Given the description of an element on the screen output the (x, y) to click on. 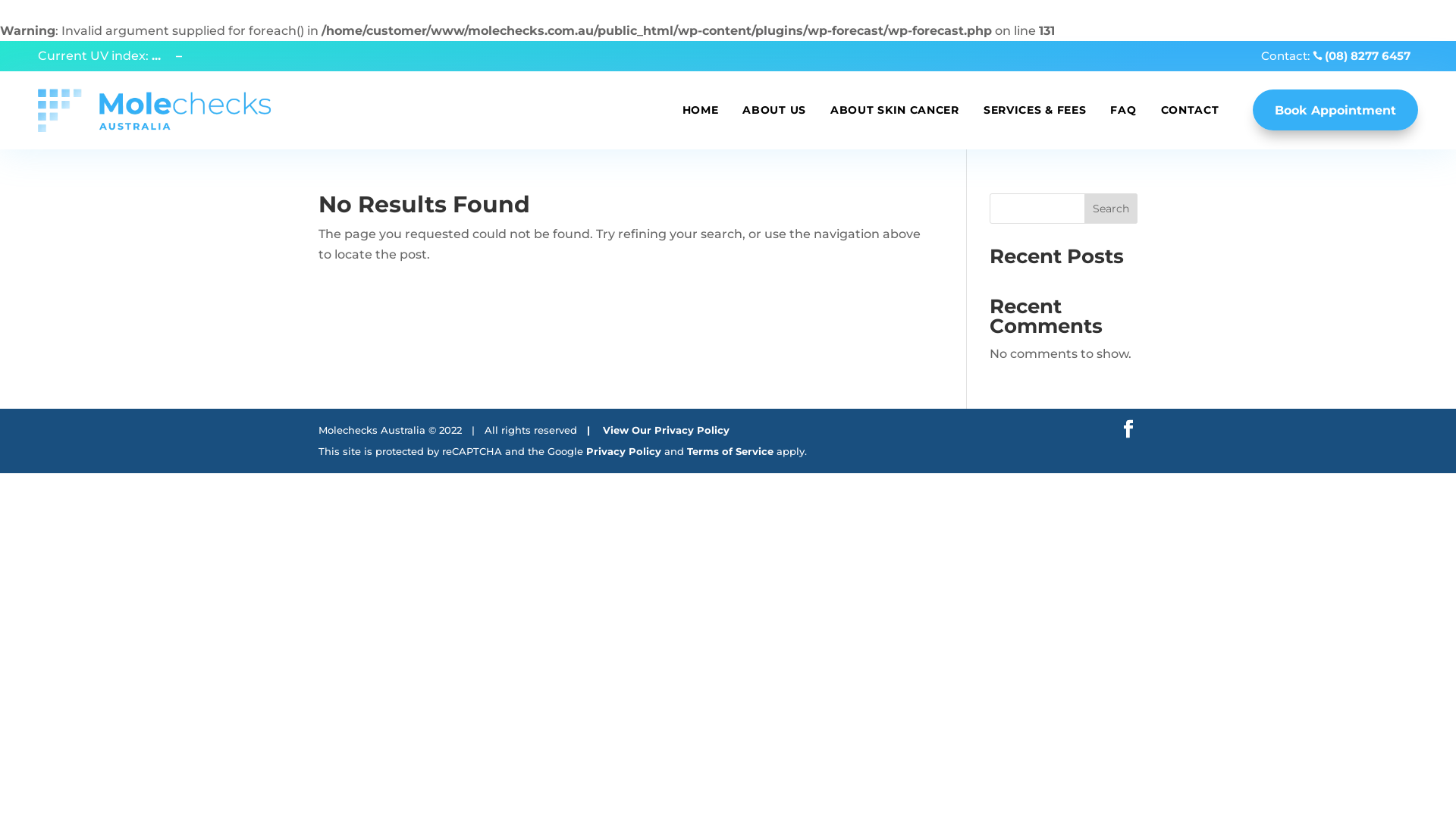
Book Appointment Element type: text (1335, 109)
SERVICES & FEES Element type: text (1034, 109)
Terms of Service Element type: text (730, 450)
Search Element type: text (1110, 208)
FAQ Element type: text (1122, 109)
Privacy Policy Element type: text (623, 450)
View Our Privacy Policy Element type: text (665, 429)
ABOUT SKIN CANCER Element type: text (894, 109)
ABOUT US Element type: text (774, 109)
CONTACT Element type: text (1189, 109)
HOME Element type: text (700, 109)
